Given the description of an element on the screen output the (x, y) to click on. 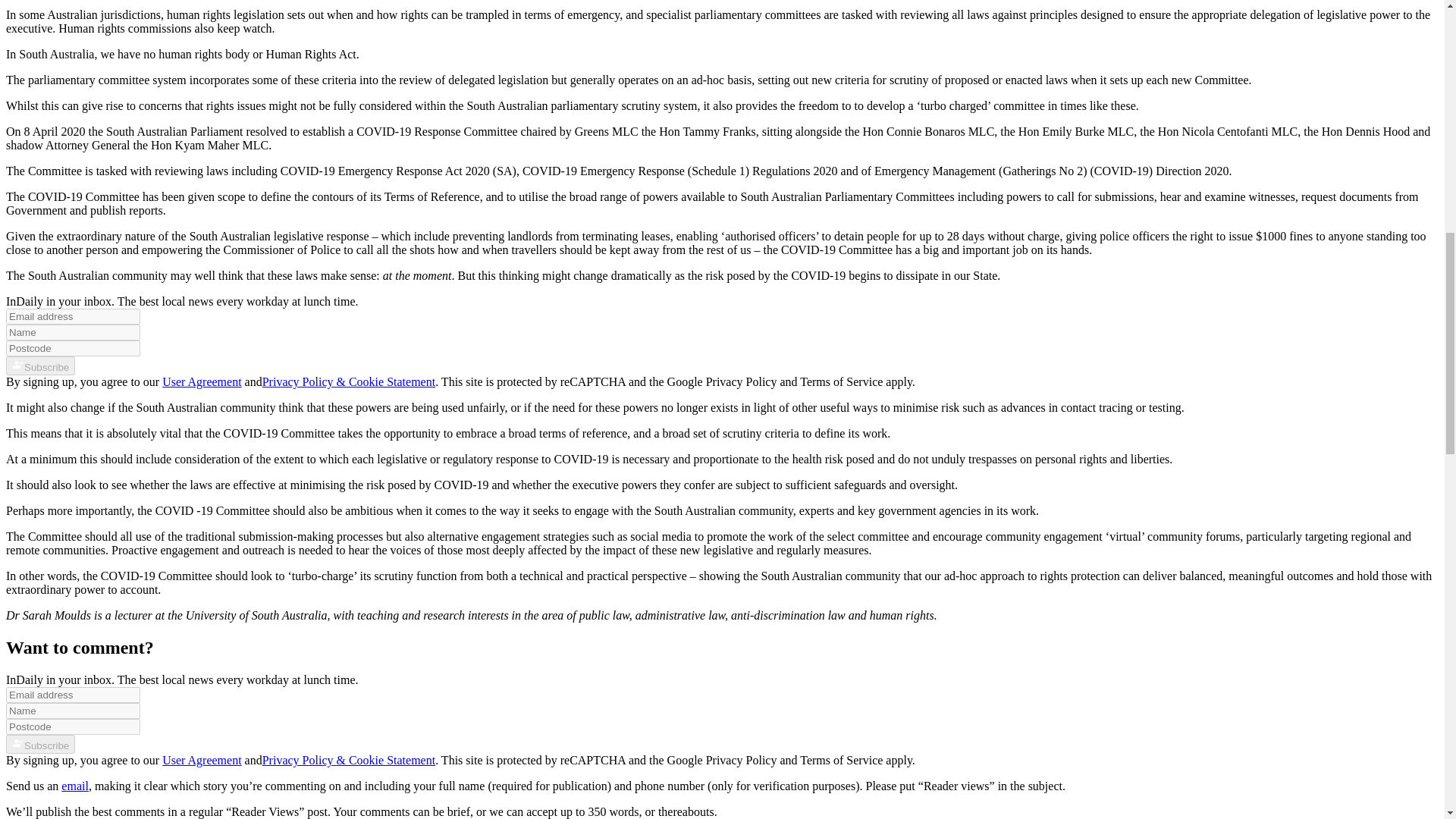
Subscribe (40, 365)
Subscribe (40, 743)
User Agreement (201, 381)
email (74, 785)
User Agreement (201, 759)
